Given the description of an element on the screen output the (x, y) to click on. 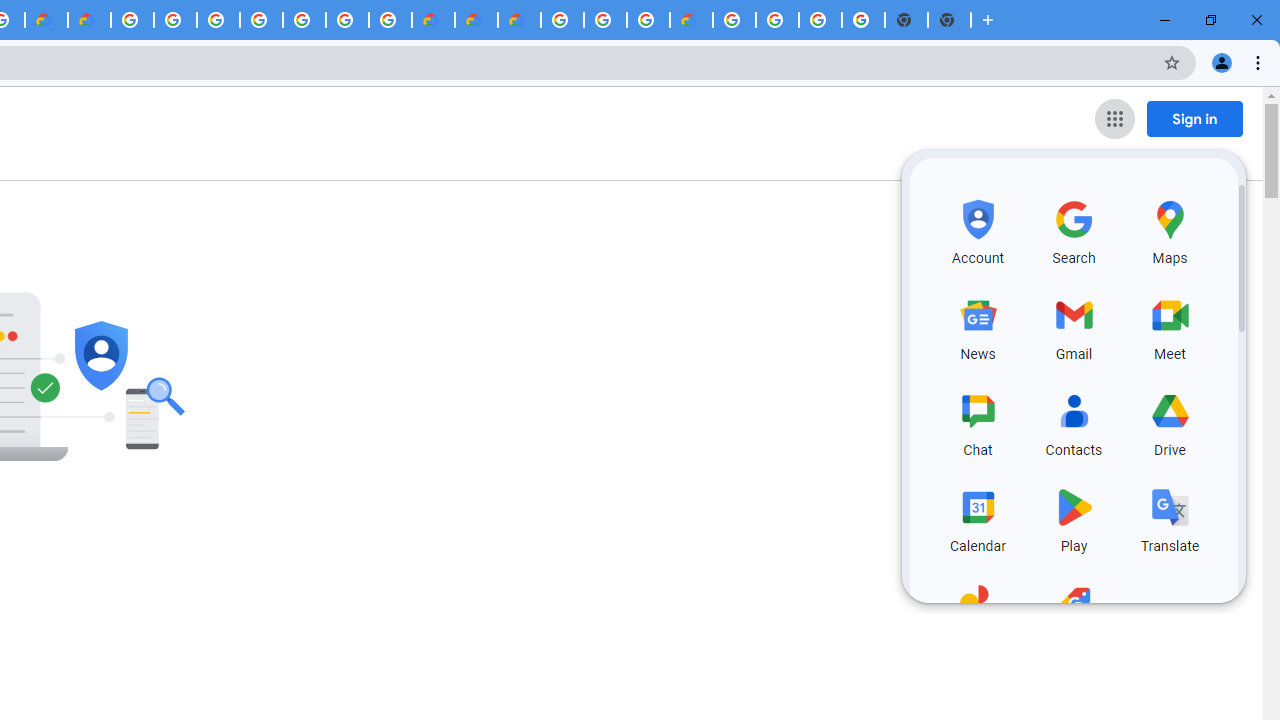
Customer Care | Google Cloud (433, 20)
